Given the description of an element on the screen output the (x, y) to click on. 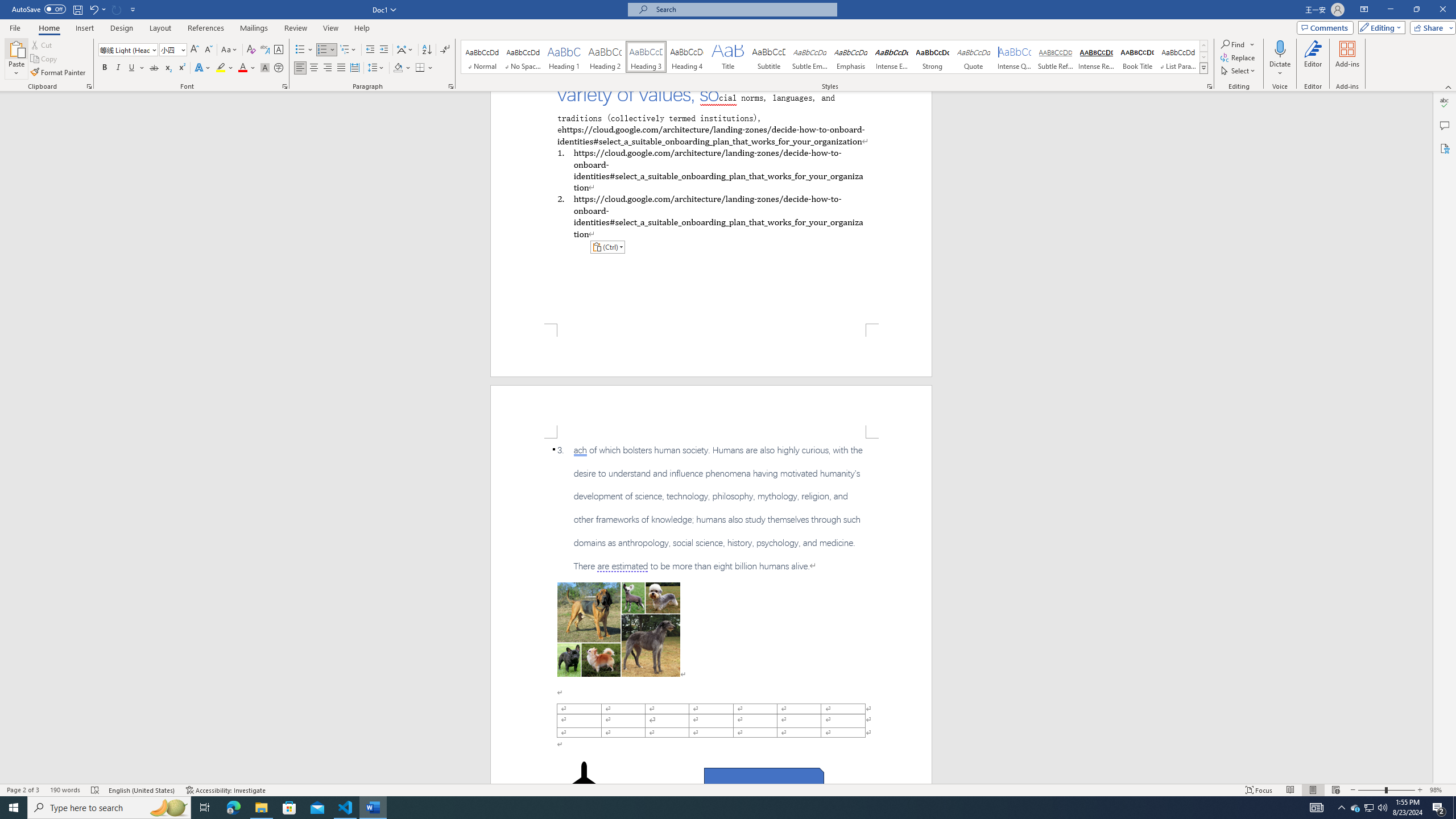
Sort... (426, 49)
Superscript (180, 67)
Text Effects and Typography (202, 67)
Subtle Emphasis (809, 56)
Clear Formatting (250, 49)
Office Clipboard... (88, 85)
Shrink Font (208, 49)
Cut (42, 44)
